Given the description of an element on the screen output the (x, y) to click on. 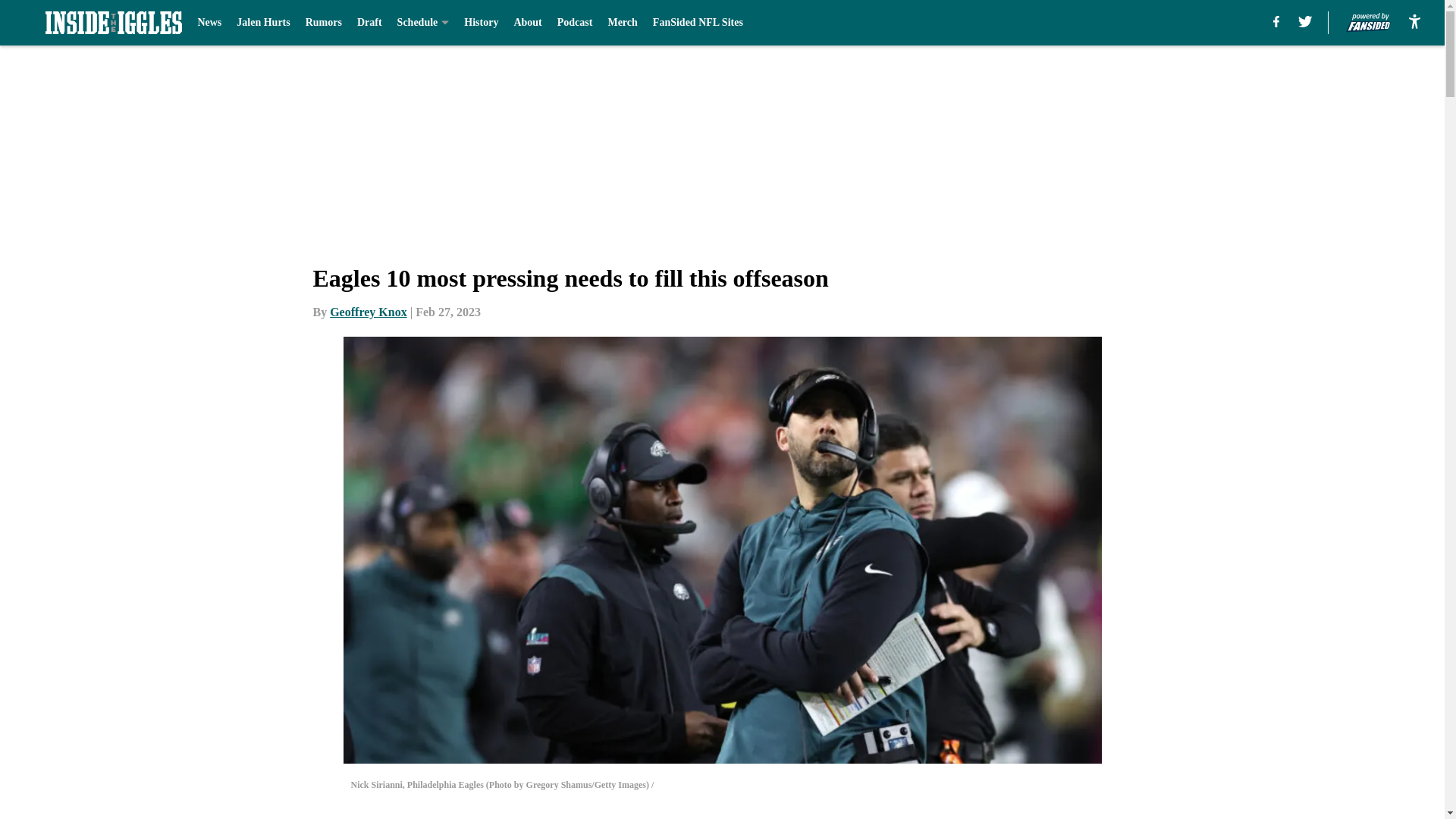
History (480, 22)
Draft (368, 22)
Merch (622, 22)
News (208, 22)
Geoffrey Knox (368, 311)
Rumors (323, 22)
Podcast (574, 22)
About (527, 22)
FanSided NFL Sites (697, 22)
Jalen Hurts (262, 22)
